Given the description of an element on the screen output the (x, y) to click on. 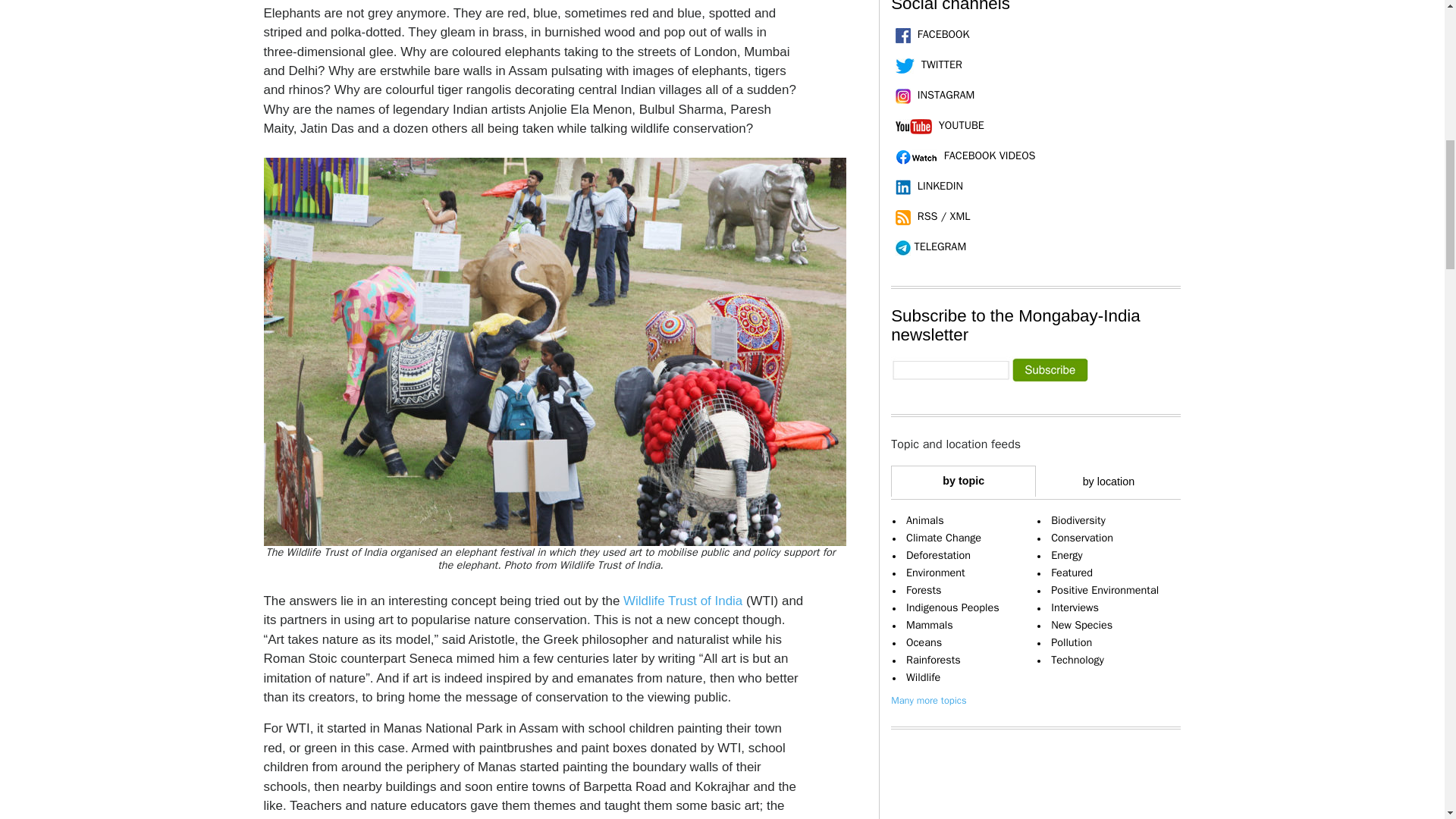
  FACEBOOK (930, 33)
  TWITTER (926, 64)
Wildlife Trust of India (682, 600)
